Given the description of an element on the screen output the (x, y) to click on. 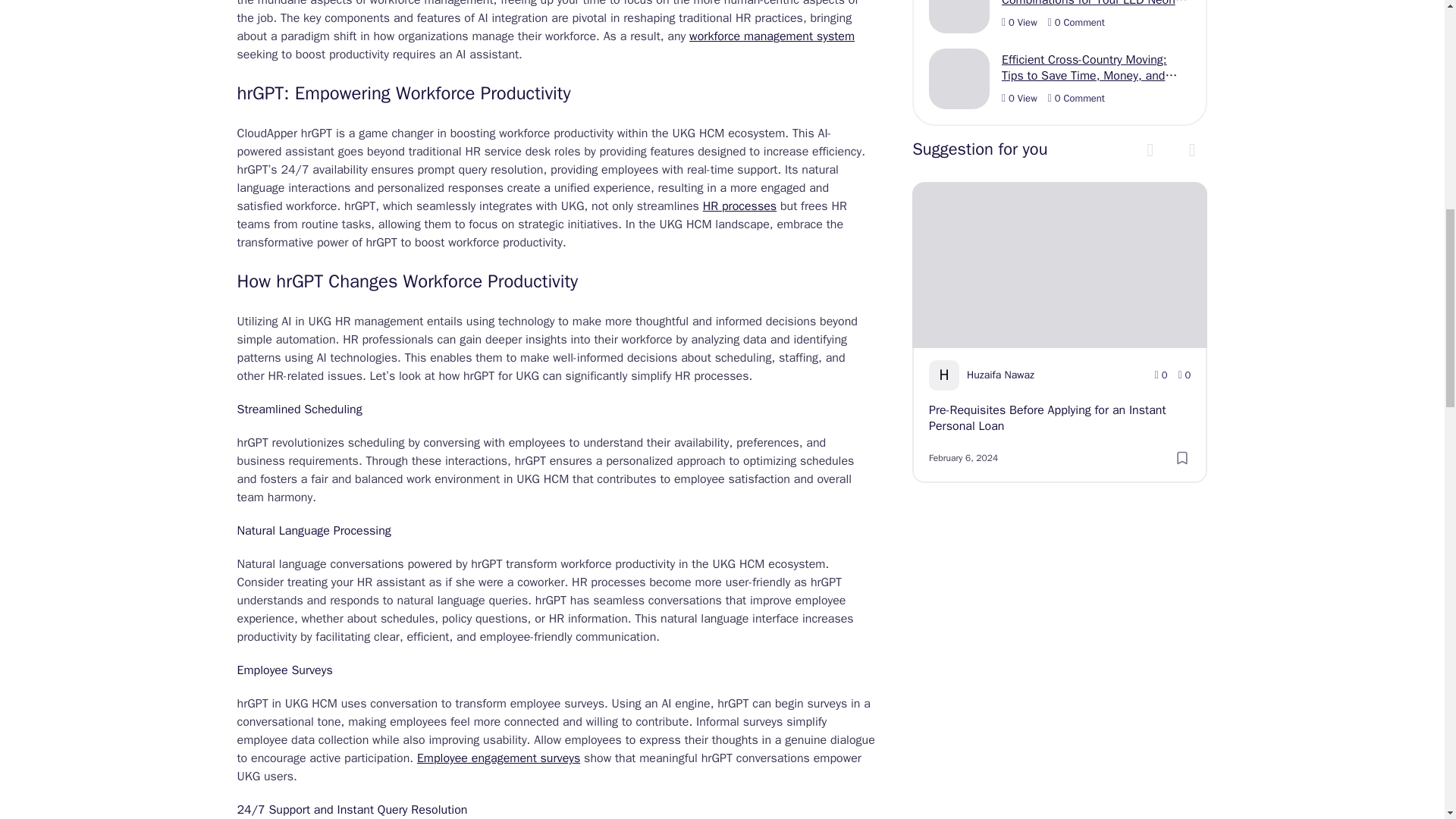
View (1018, 98)
Employee engagement surveys (497, 758)
View (1018, 22)
Comment (1076, 98)
HR processes (739, 206)
Comment (1076, 22)
workforce management system (771, 36)
